Given the description of an element on the screen output the (x, y) to click on. 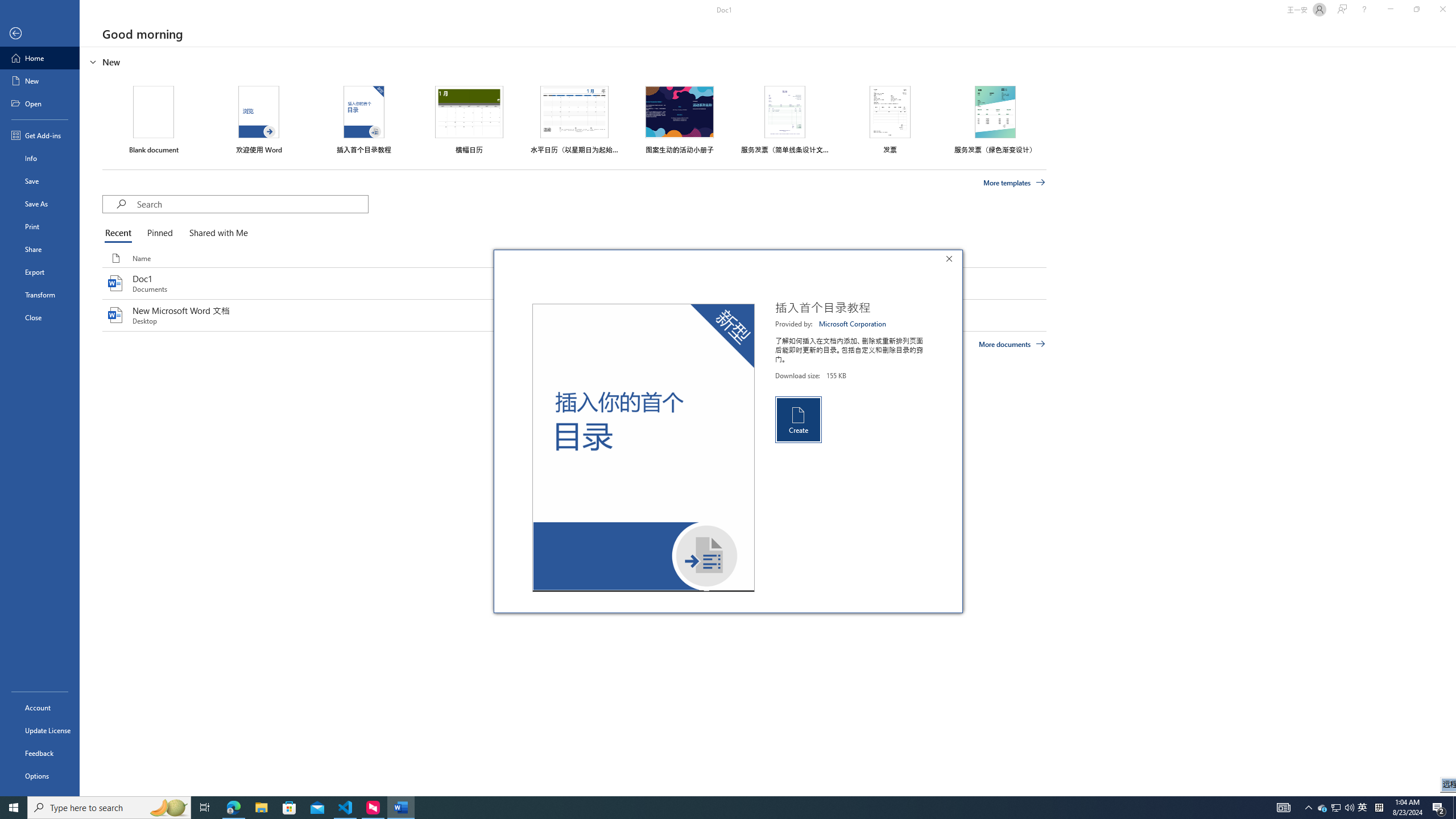
Create (797, 419)
Pinned (159, 233)
Microsoft Corporation (853, 323)
Visual Studio Code - 1 running window (345, 807)
Notification Chevron (1335, 807)
Close (1308, 807)
Save As (951, 259)
Minimize (40, 203)
Info (1390, 9)
